Given the description of an element on the screen output the (x, y) to click on. 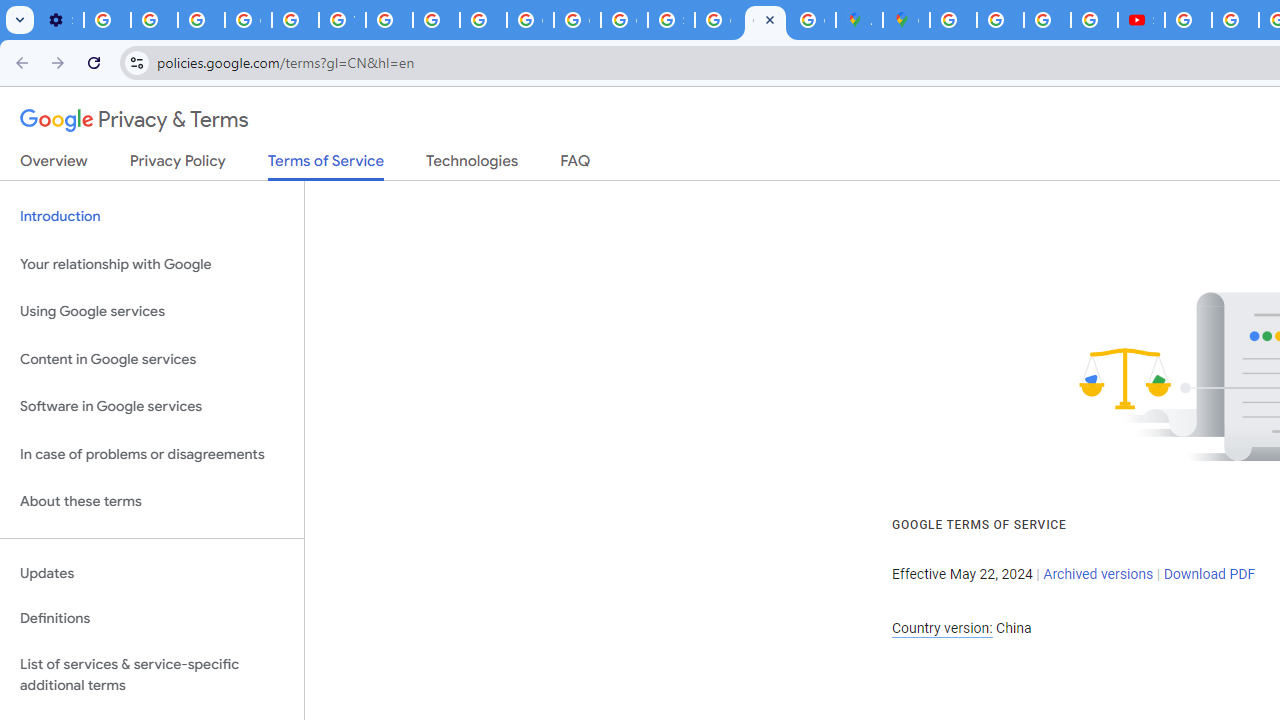
Settings - Customize profile (60, 20)
List of services & service-specific additional terms (152, 674)
About these terms (152, 502)
Your relationship with Google (152, 263)
Country version: (942, 628)
